Given the description of an element on the screen output the (x, y) to click on. 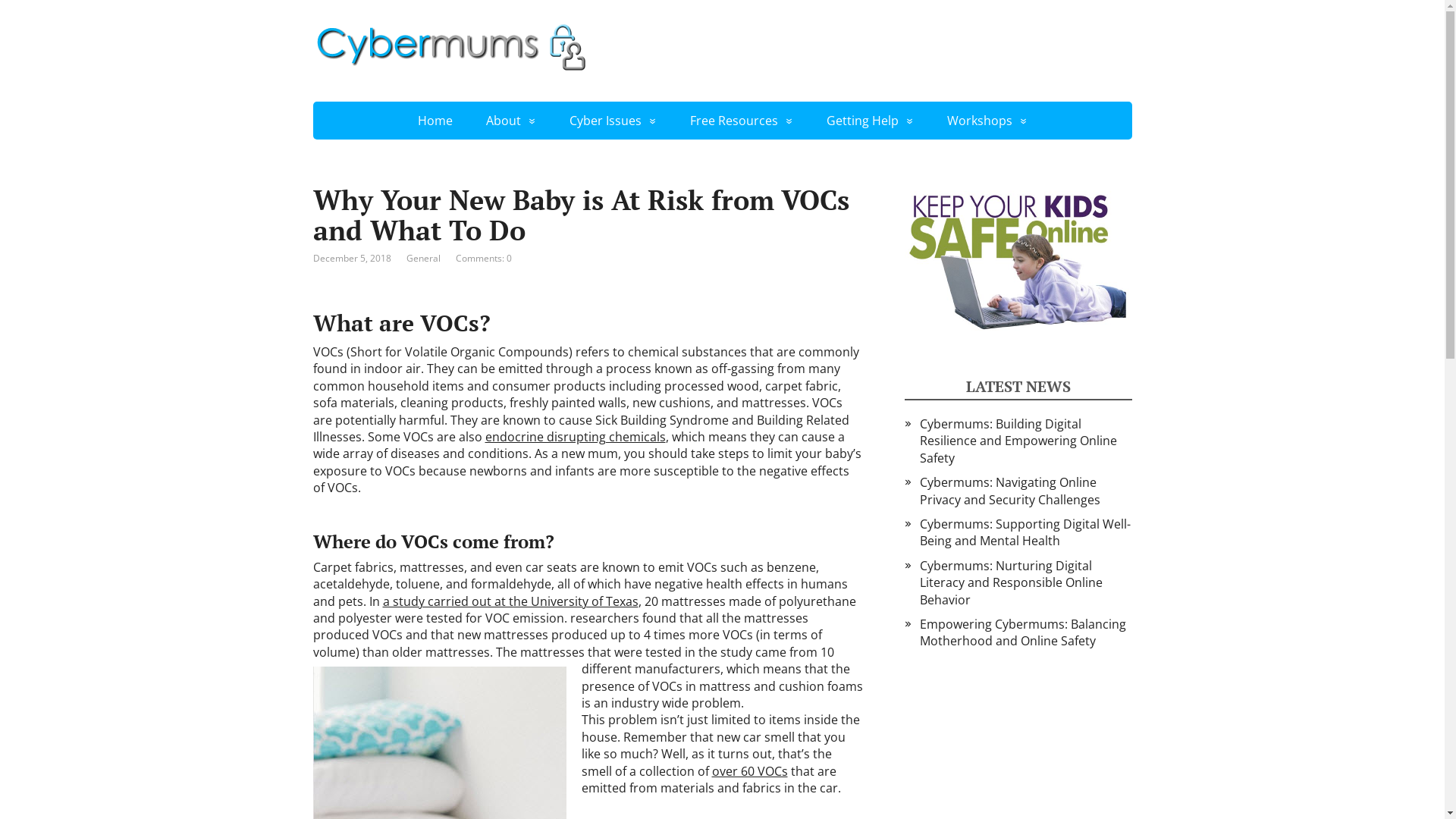
Cybermums: Supporting Digital Well-Being and Mental Health Element type: text (1024, 532)
Free Resources Element type: text (741, 120)
About Element type: text (510, 120)
Home Element type: text (434, 120)
Comments: 0 Element type: text (483, 257)
over 60 VOCs Element type: text (749, 770)
Empowering Cybermums: Balancing Motherhood and Online Safety Element type: text (1022, 632)
a study carried out at the University of Texas Element type: text (509, 601)
Cybermums: Navigating Online Privacy and Security Challenges Element type: text (1009, 490)
General Element type: text (423, 257)
Getting Help Element type: text (869, 120)
Workshops Element type: text (986, 120)
Cyber Issues Element type: text (612, 120)
endocrine disrupting chemicals Element type: text (575, 436)
